Given the description of an element on the screen output the (x, y) to click on. 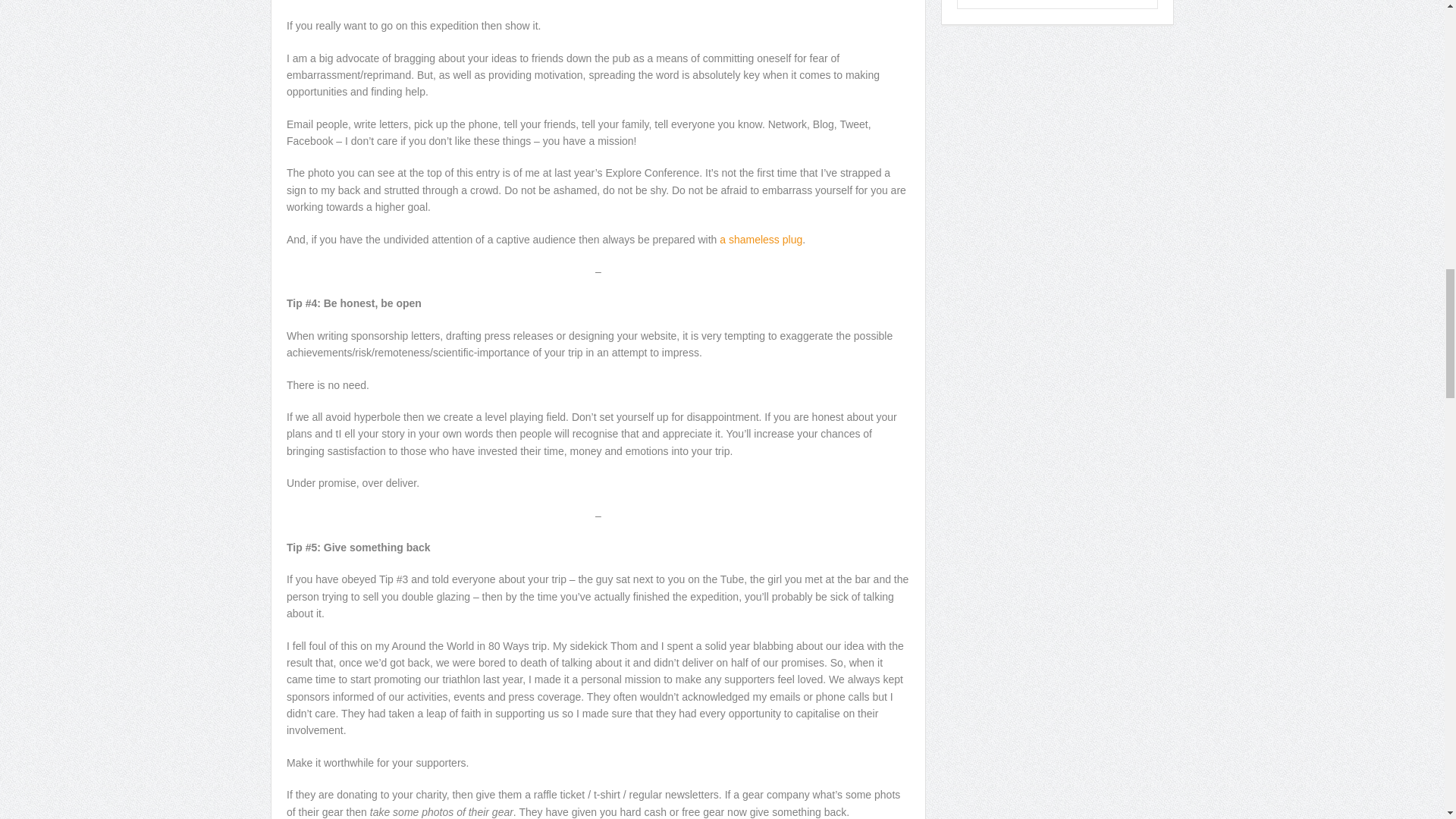
Egg and Spoon Race (760, 239)
